Given the description of an element on the screen output the (x, y) to click on. 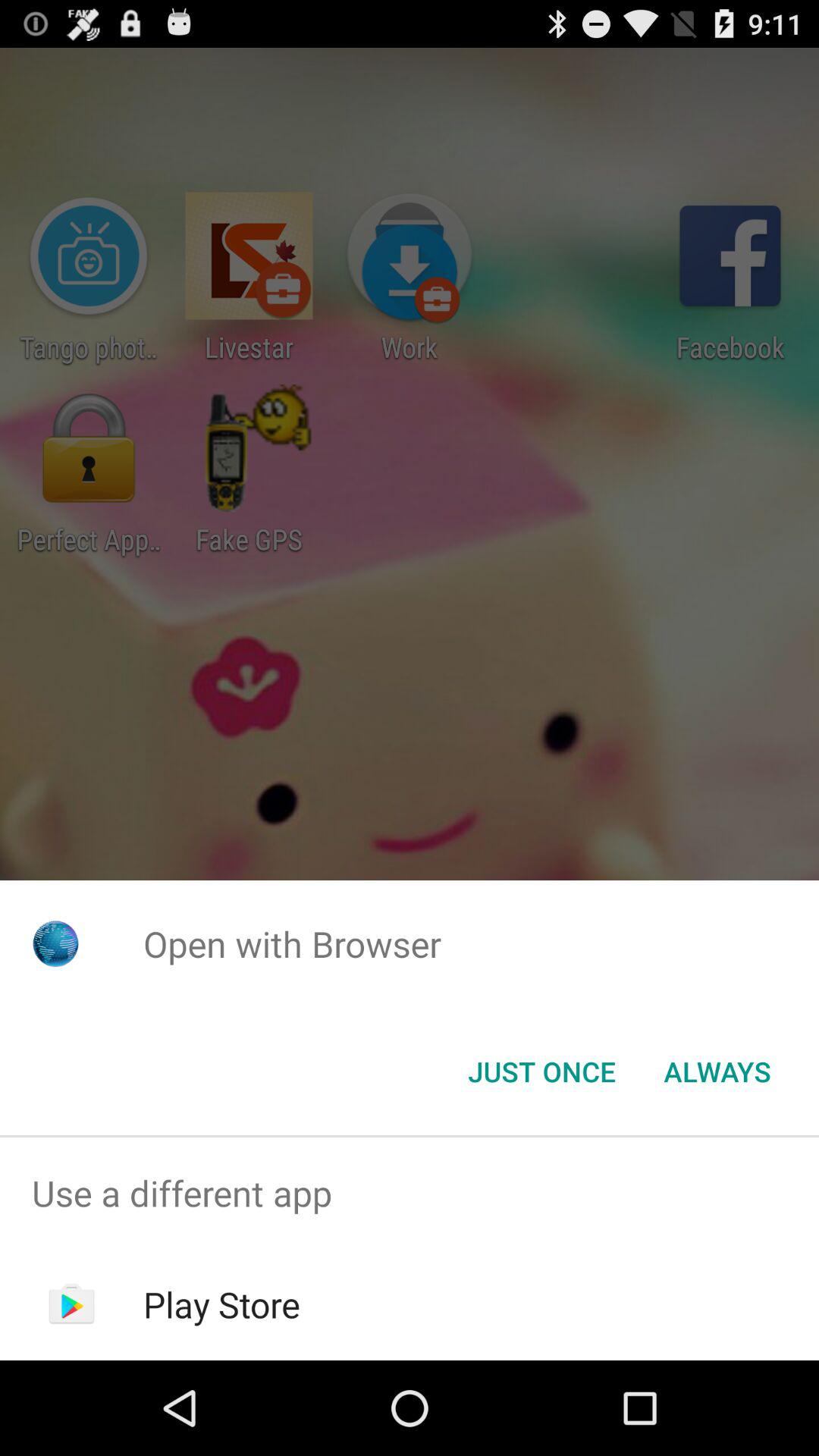
tap icon next to the just once (717, 1071)
